Given the description of an element on the screen output the (x, y) to click on. 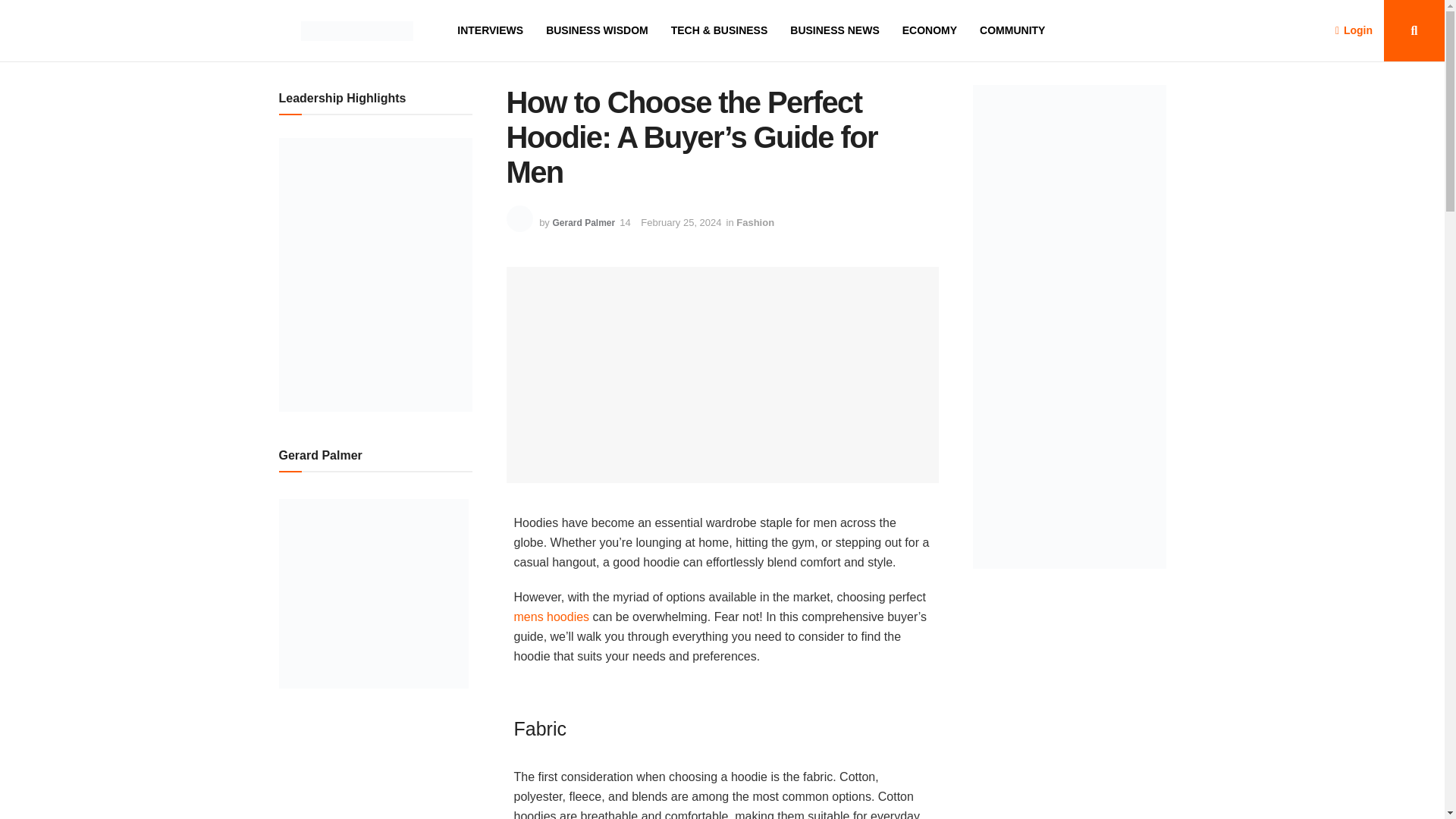
BUSINESS NEWS (834, 30)
ECONOMY (929, 30)
INTERVIEWS (489, 30)
Fashion (755, 222)
COMMUNITY (1012, 30)
BUSINESS WISDOM (596, 30)
February 25, 2024 (680, 222)
mens hoodies (551, 616)
Gerard Palmer (582, 222)
